Given the description of an element on the screen output the (x, y) to click on. 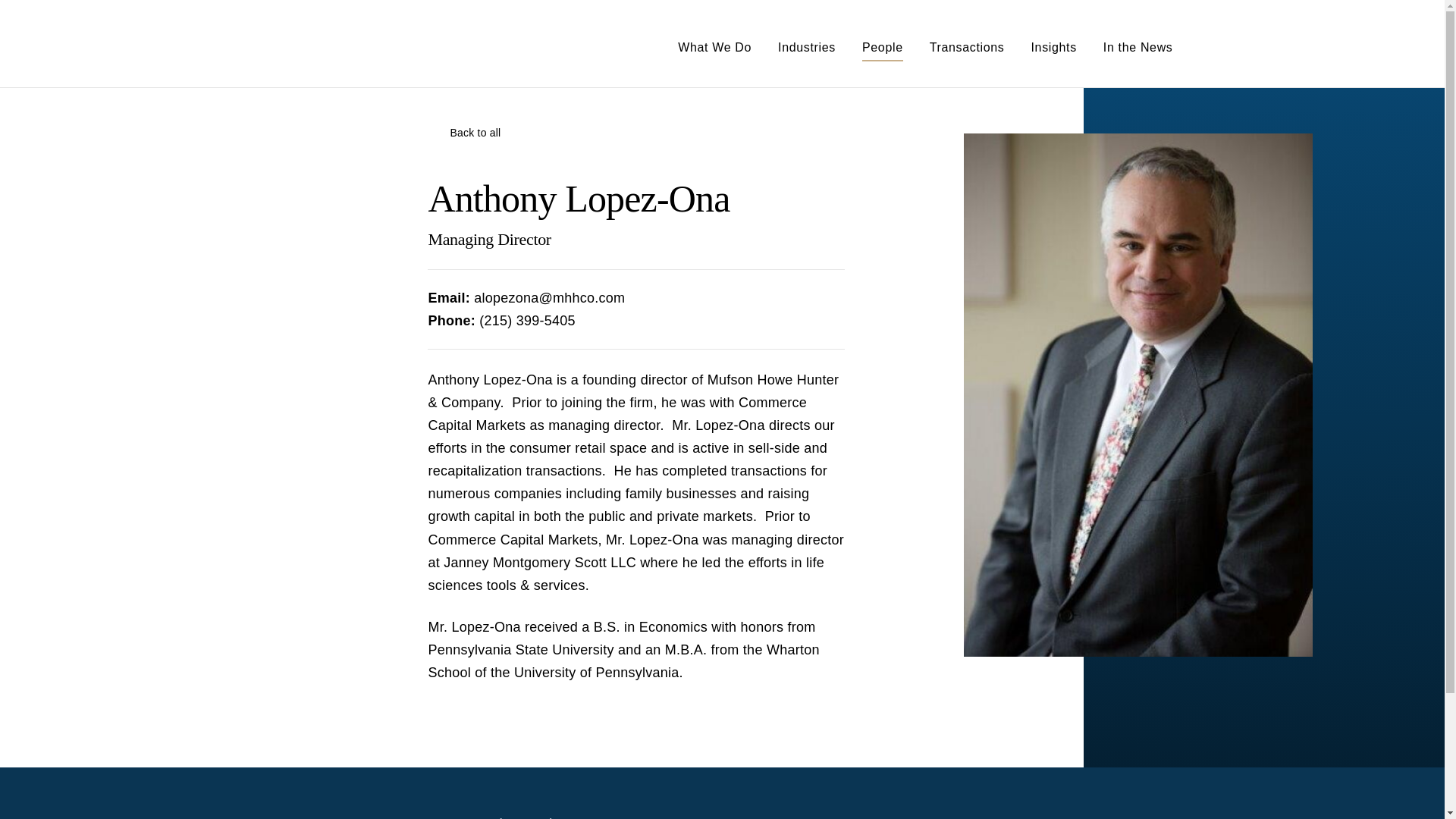
Left Arrow (435, 132)
People (881, 50)
Insights (1053, 50)
Transactions (967, 50)
What We Do (714, 50)
Left Arrow Back to all (636, 132)
In the News (1138, 50)
Industries (806, 50)
